Given the description of an element on the screen output the (x, y) to click on. 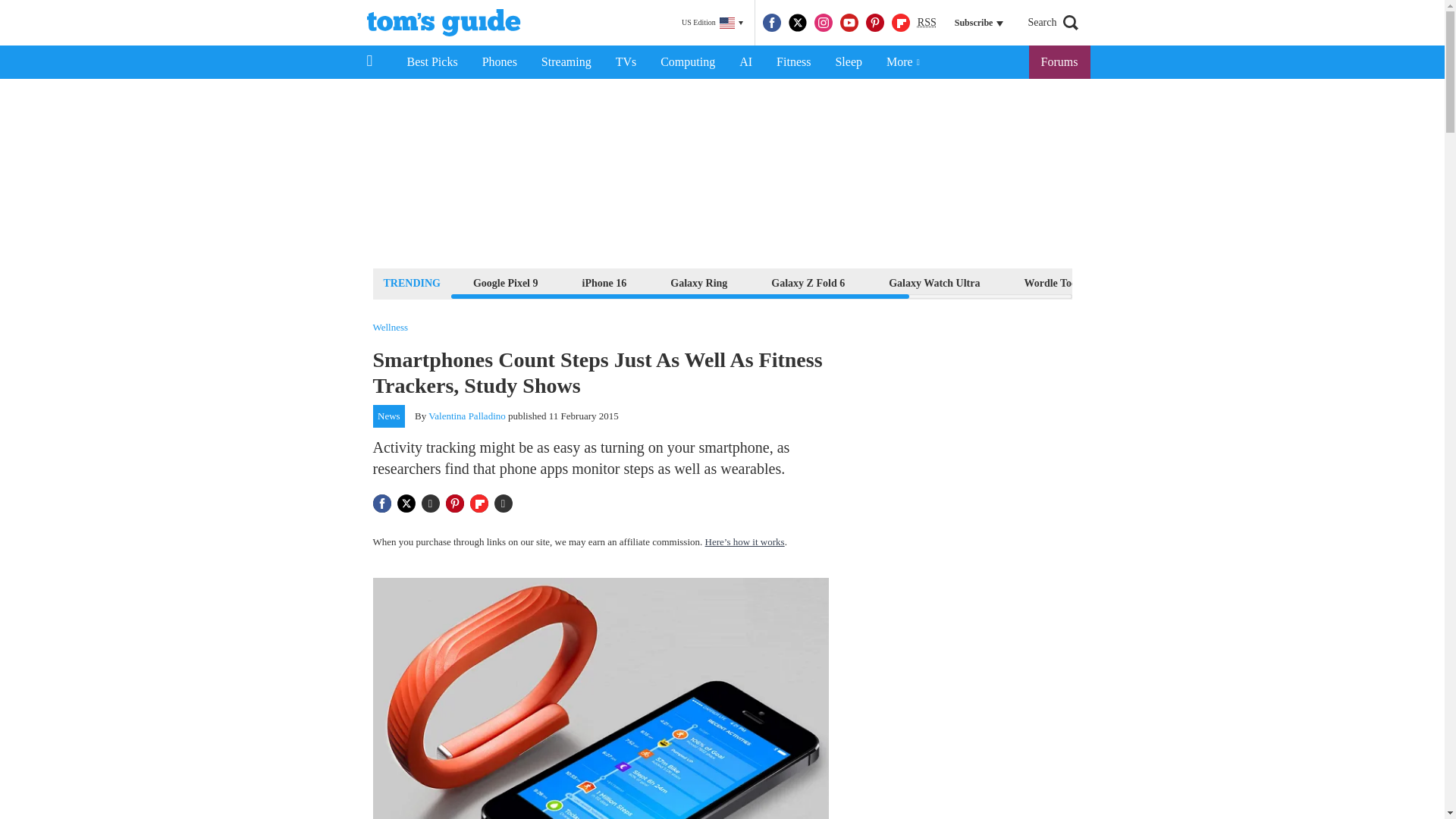
Best Picks (431, 61)
Fitness (793, 61)
US Edition (712, 22)
TVs (626, 61)
Computing (686, 61)
Sleep (848, 61)
RSS (926, 22)
Really Simple Syndication (926, 21)
Streaming (566, 61)
AI (745, 61)
Phones (499, 61)
